Given the description of an element on the screen output the (x, y) to click on. 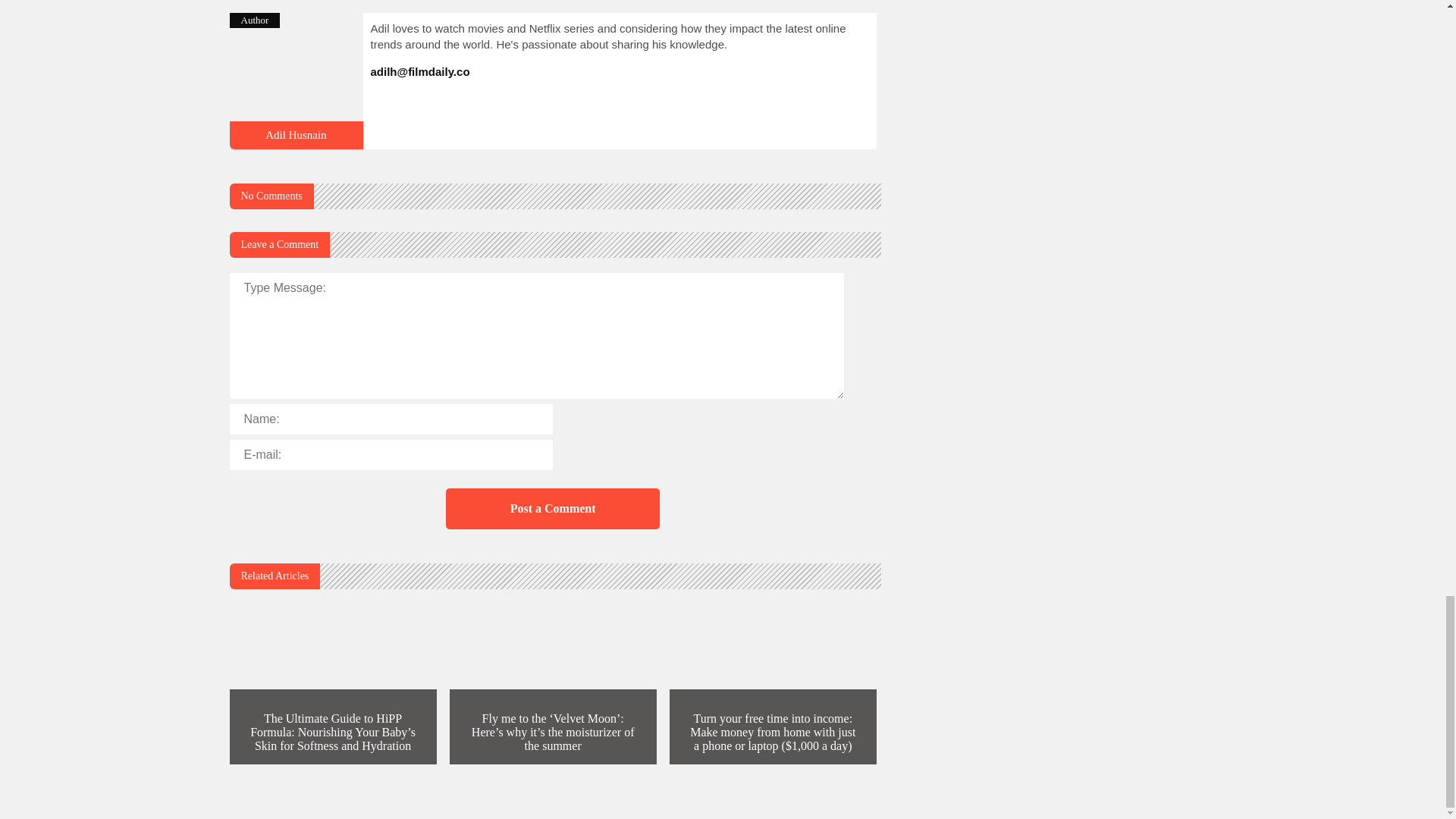
Post a Comment (552, 508)
